Given the description of an element on the screen output the (x, y) to click on. 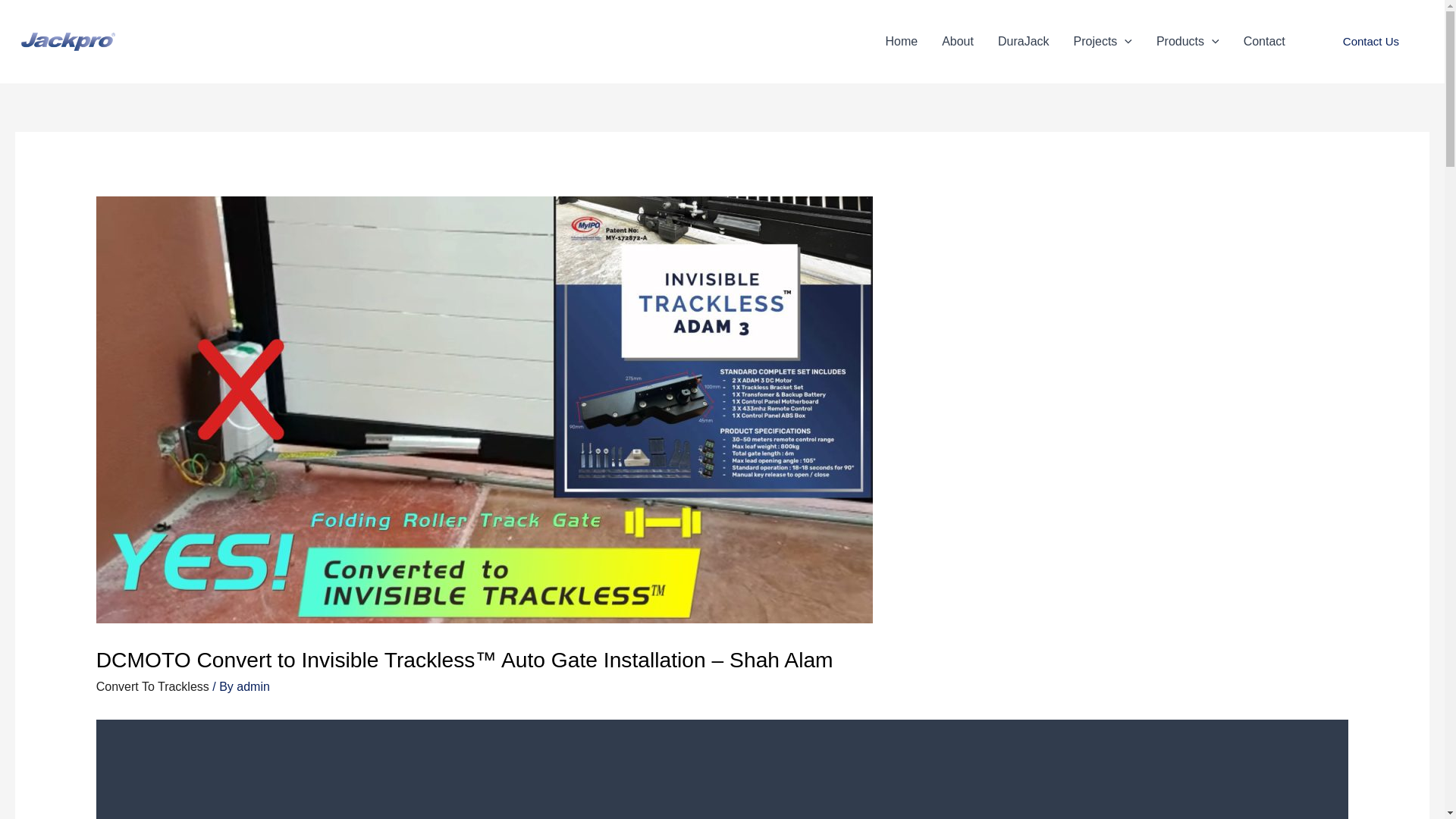
Products (1187, 41)
admin (252, 686)
View all posts by admin (252, 686)
DuraJack (1023, 41)
Projects (1102, 41)
Convert To Trackless (152, 686)
Contact Us (1371, 41)
